Given the description of an element on the screen output the (x, y) to click on. 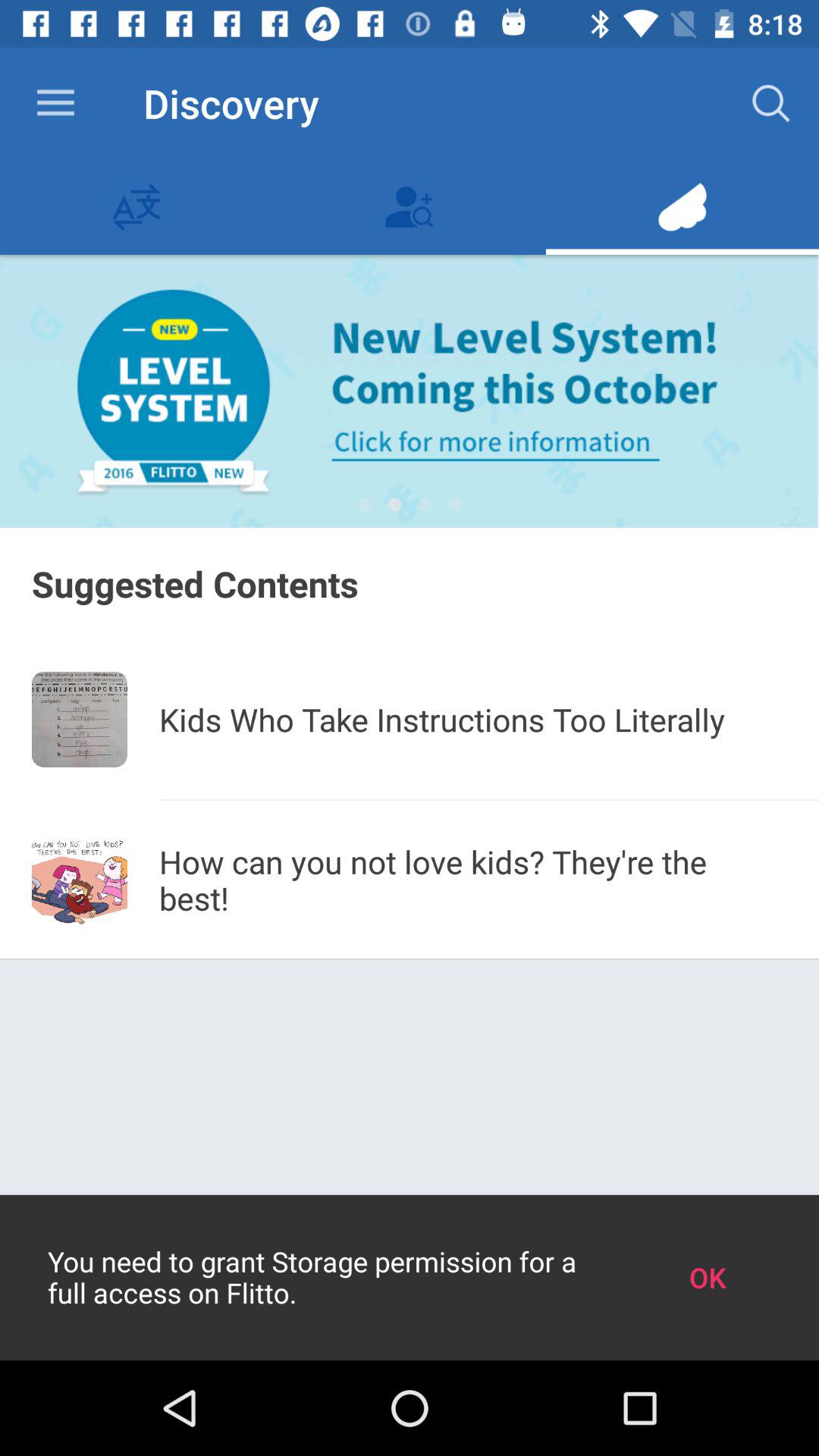
turn off the app to the right of discovery (771, 103)
